Given the description of an element on the screen output the (x, y) to click on. 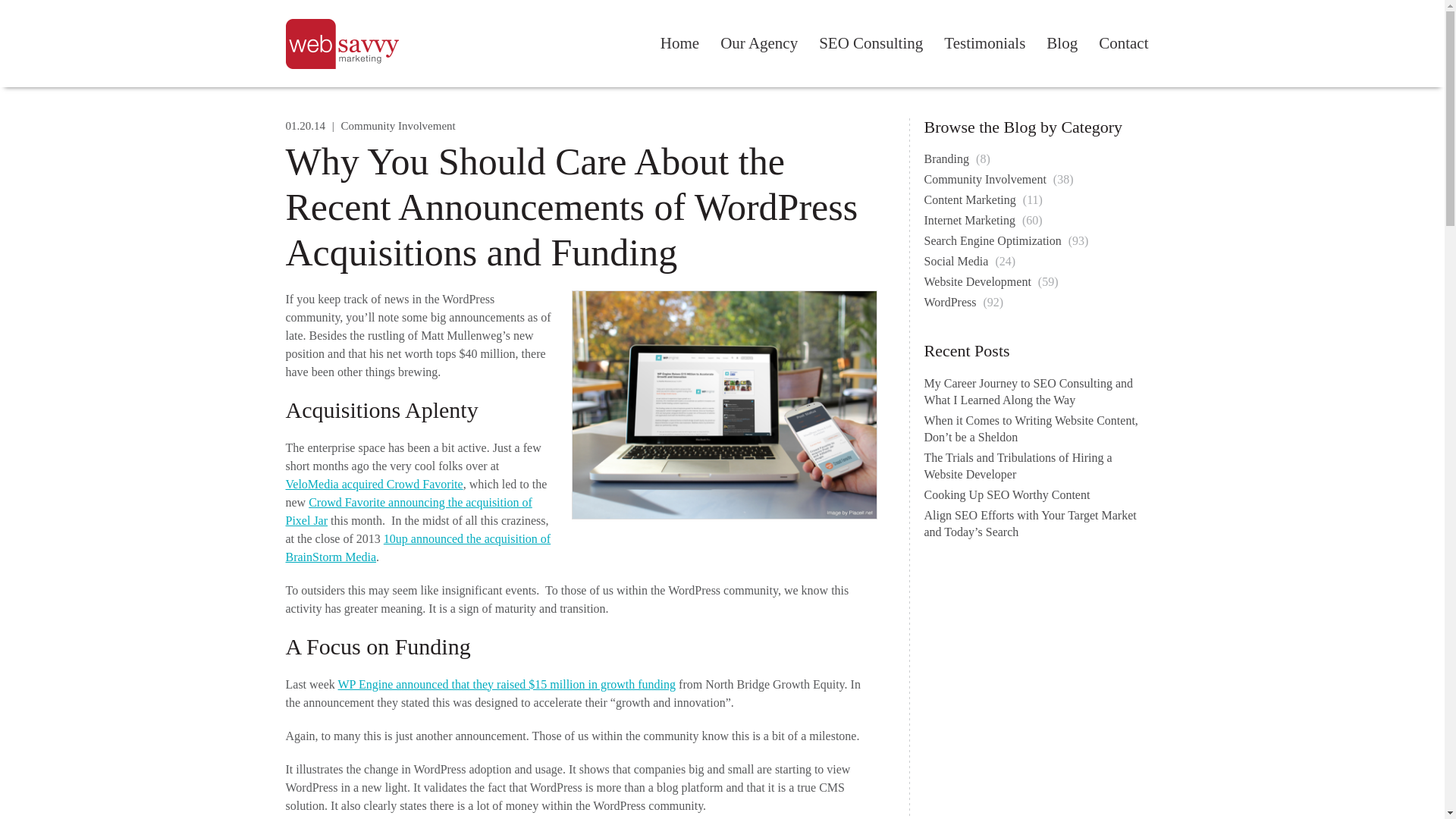
Crowd Favorite announcing the acquisition of Pixel Jar (408, 511)
SEO Consulting (870, 43)
Testimonials (984, 43)
Client Testimonials (984, 43)
Crowd Favorite announcing the acquisition of Pixel Jar (408, 511)
Content Marketing (971, 199)
Our Agency (759, 43)
Community Involvement (986, 178)
SEO Consulting Services (870, 43)
Internet Marketing (970, 219)
Our Digital Marketing Agency (759, 43)
Search Engine Optimization (993, 240)
Web Savvy Marketing (345, 43)
10up announced the acquisition of BrainStorm Media (417, 547)
VeloMedia acquired Crowd Favorite (374, 483)
